Given the description of an element on the screen output the (x, y) to click on. 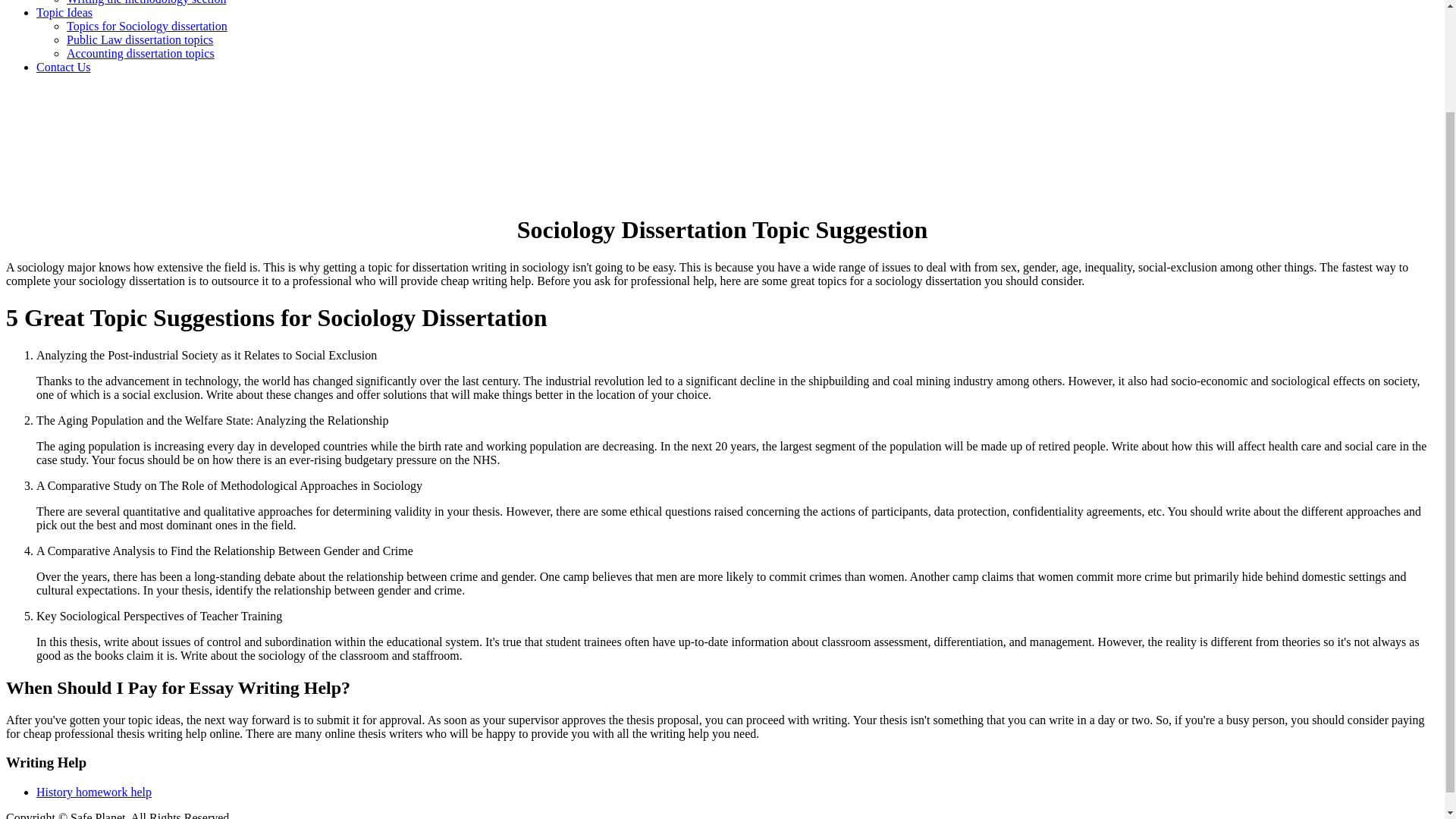
Topic Ideas (64, 11)
Public Law dissertation topics (139, 39)
History homework help (93, 791)
Contact Us (63, 66)
Writing the methodology section (145, 2)
Accounting dissertation topics (140, 52)
Topics for Sociology dissertation (146, 25)
